Given the description of an element on the screen output the (x, y) to click on. 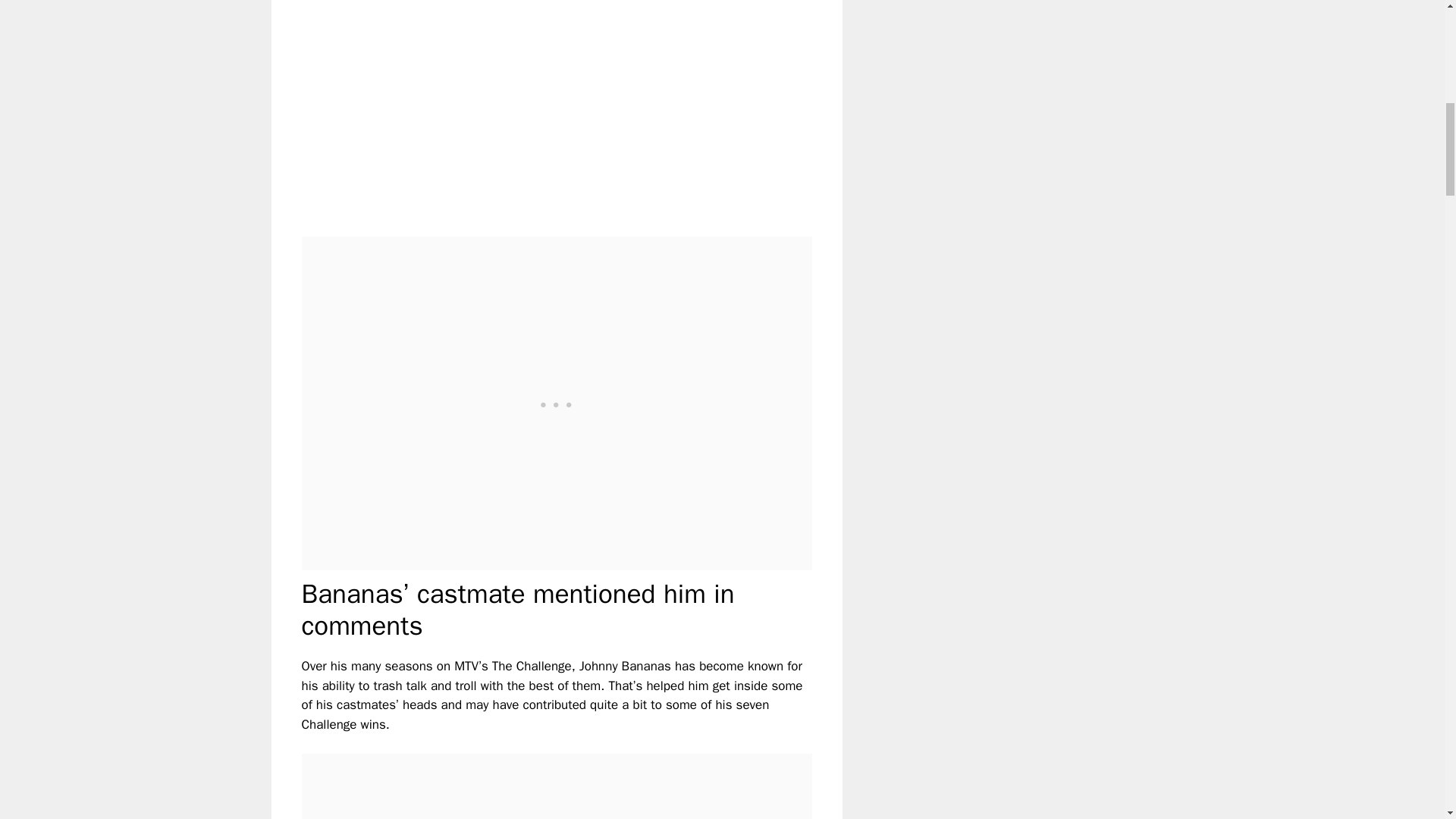
YouTube video player (513, 105)
